Given the description of an element on the screen output the (x, y) to click on. 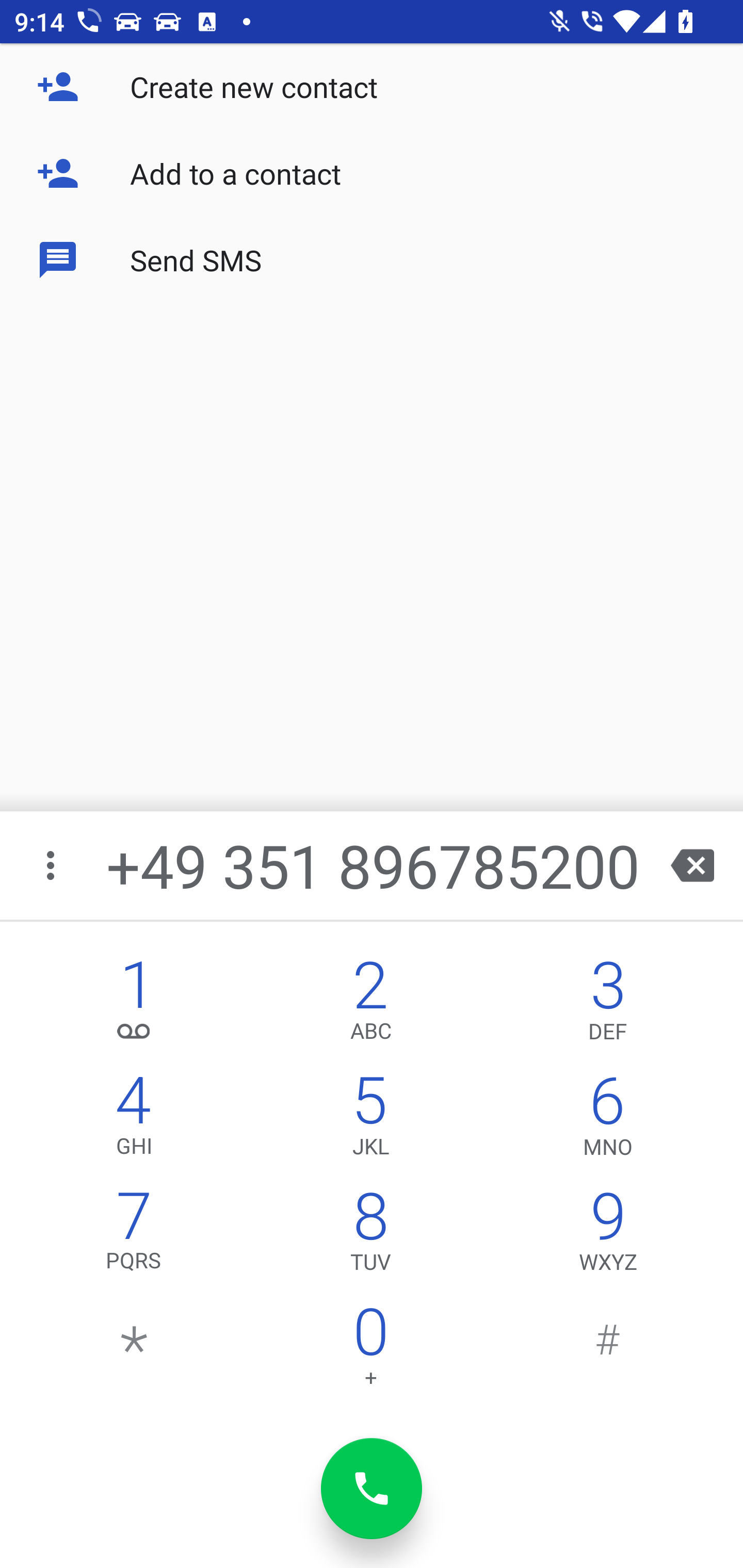
Create new contact (371, 86)
Add to a contact (371, 173)
Send SMS (371, 259)
+49 351 896785200 (372, 865)
backspace (692, 865)
More options (52, 865)
1, 1 (133, 1005)
2,ABC 2 ABC (370, 1005)
3,DEF 3 DEF (607, 1005)
4,GHI 4 GHI (133, 1120)
5,JKL 5 JKL (370, 1120)
6,MNO 6 MNO (607, 1120)
7,PQRS 7 PQRS (133, 1235)
8,TUV 8 TUV (370, 1235)
9,WXYZ 9 WXYZ (607, 1235)
* (133, 1351)
0 0 + (370, 1351)
# (607, 1351)
dial (371, 1488)
